Given the description of an element on the screen output the (x, y) to click on. 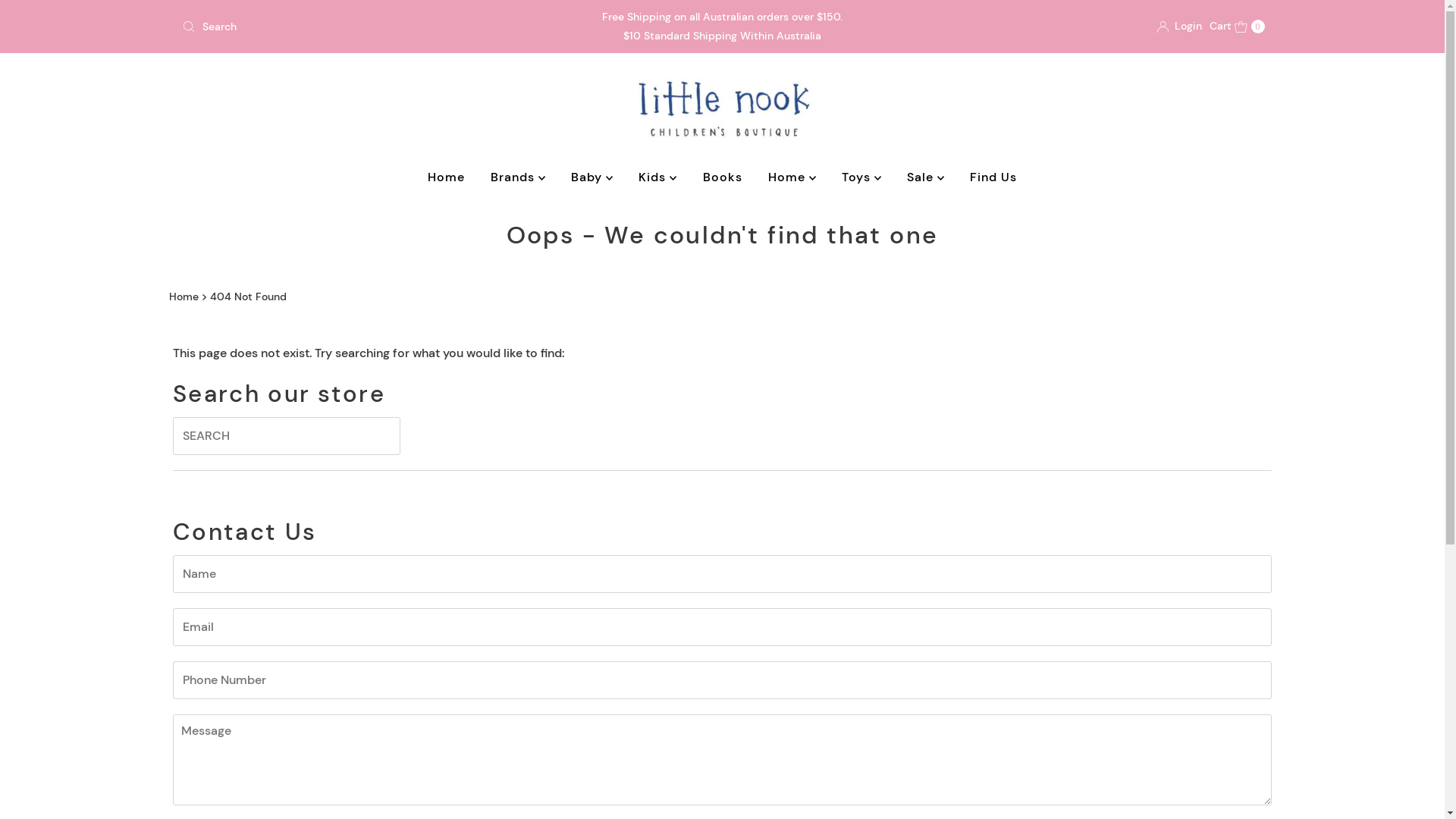
Cart 
0 Element type: text (1236, 26)
Find Us Element type: text (993, 177)
  Login Element type: text (1179, 26)
Home Element type: text (446, 177)
Search our store Element type: hover (286, 436)
Search our store Element type: hover (353, 26)
Home Element type: text (184, 297)
Books Element type: text (722, 177)
